Given the description of an element on the screen output the (x, y) to click on. 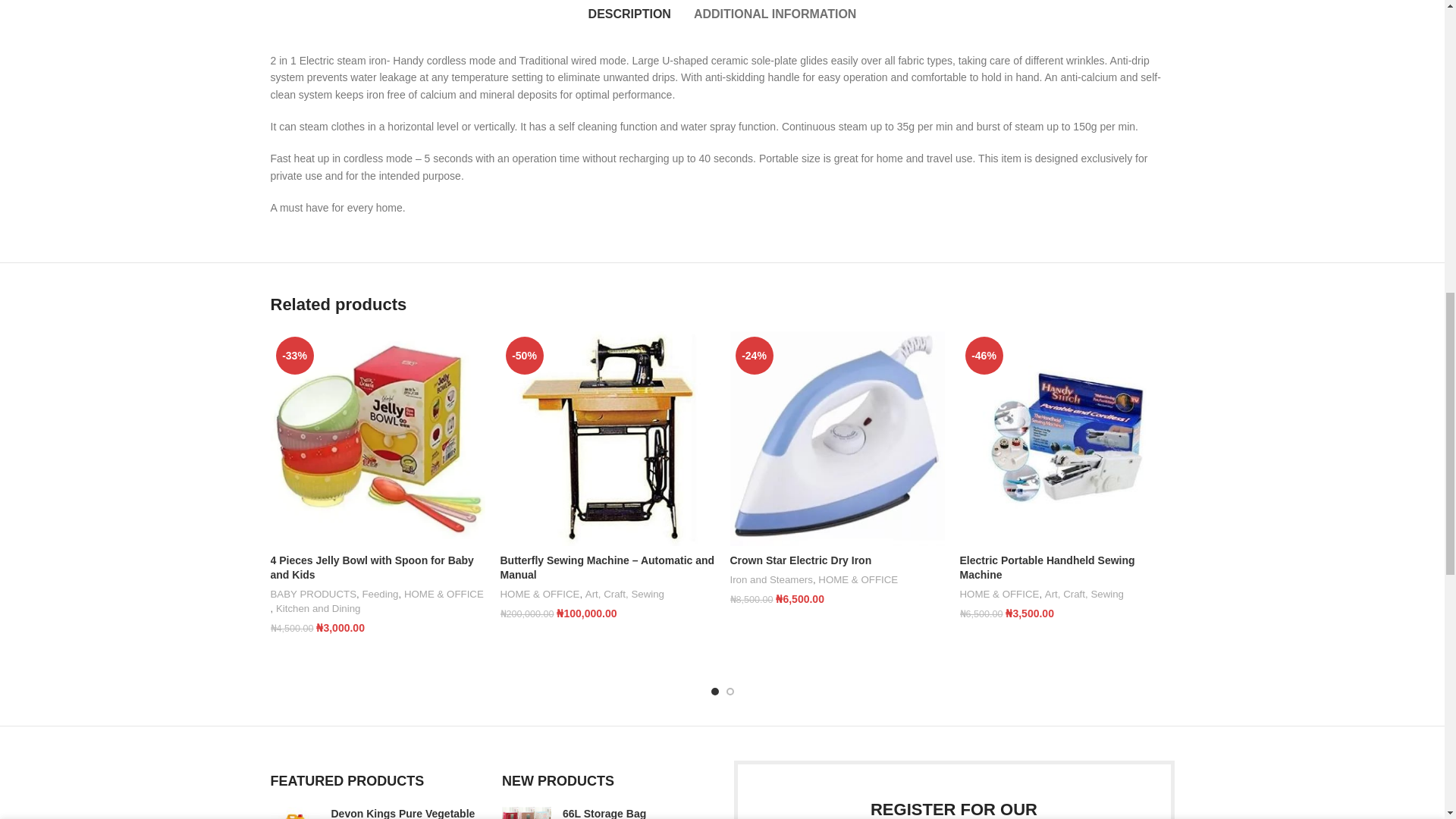
1 (877, 35)
Devon Kings Pure Vegetable Oil - 5L (404, 812)
Devon Kings Pure Vegetable Oil - 5L (293, 812)
66L Storage Bag (636, 812)
- (856, 35)
66L Storage Bag (526, 812)
